Given the description of an element on the screen output the (x, y) to click on. 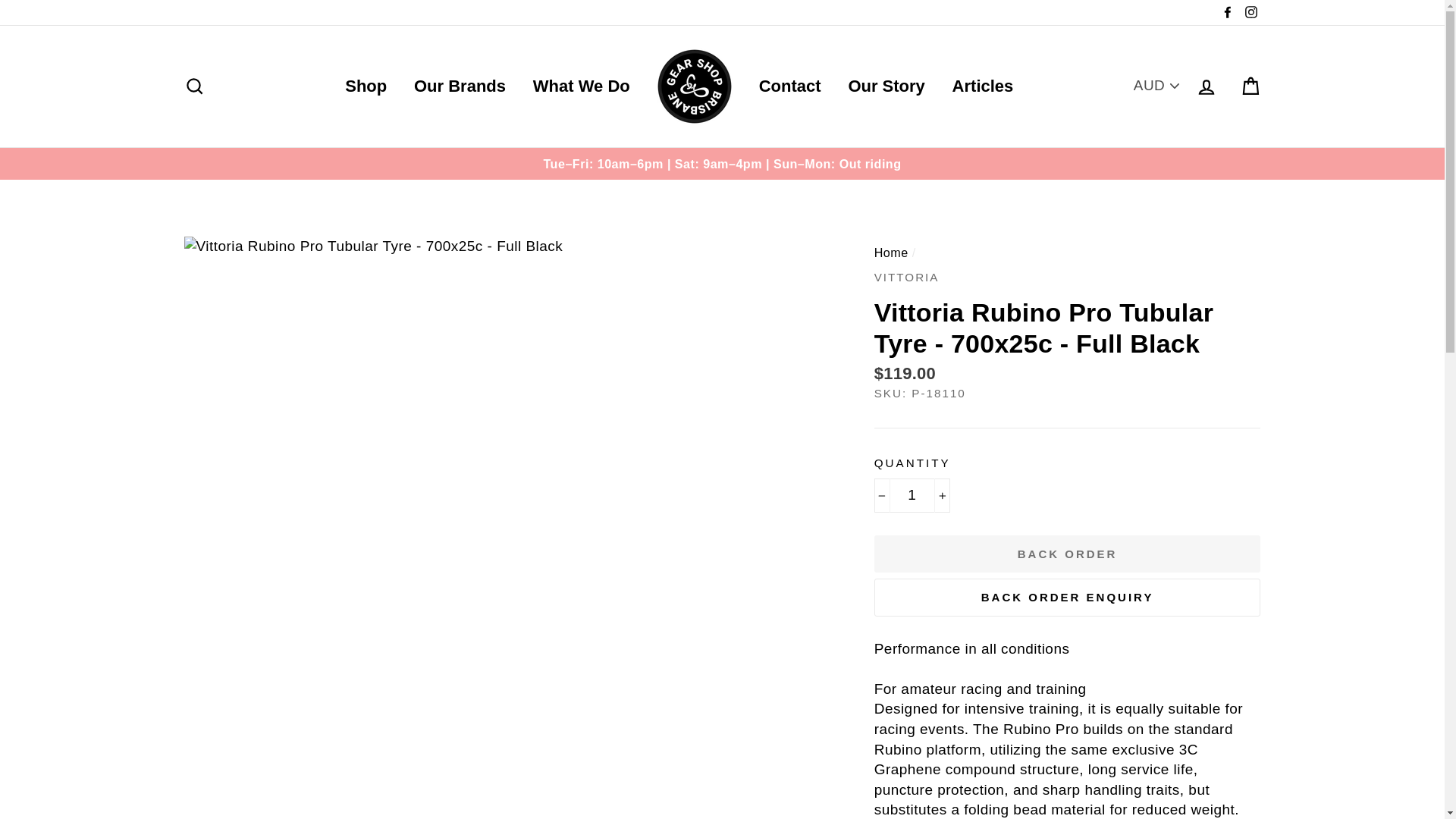
Shop (365, 85)
What We Do (581, 85)
Search (194, 85)
Our Brands (459, 85)
Back to the frontpage (891, 252)
1 (912, 495)
